Given the description of an element on the screen output the (x, y) to click on. 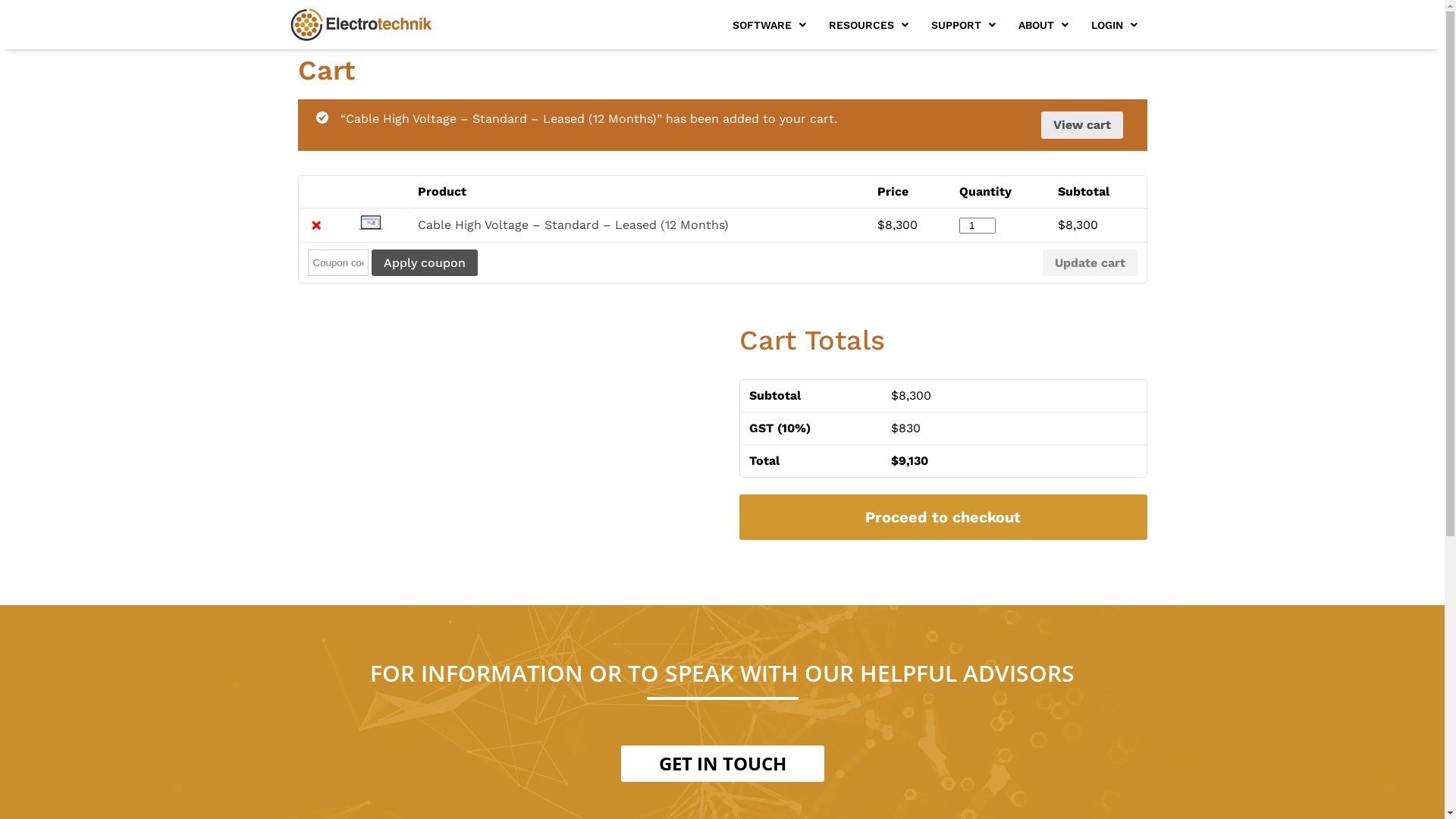
GET IN TOUCH Element type: text (721, 763)
RESOURCES Element type: text (868, 23)
Proceed to checkout Element type: text (943, 516)
ABOUT Element type: text (1043, 23)
SUPPORT Element type: text (963, 23)
SOFTWARE Element type: text (769, 23)
Cart Element type: hover (370, 222)
View cart Element type: text (1081, 124)
Qty Element type: hover (977, 225)
Update cart Element type: text (1088, 262)
LOGIN Element type: text (1113, 23)
Apply coupon Element type: text (424, 262)
